Given the description of an element on the screen output the (x, y) to click on. 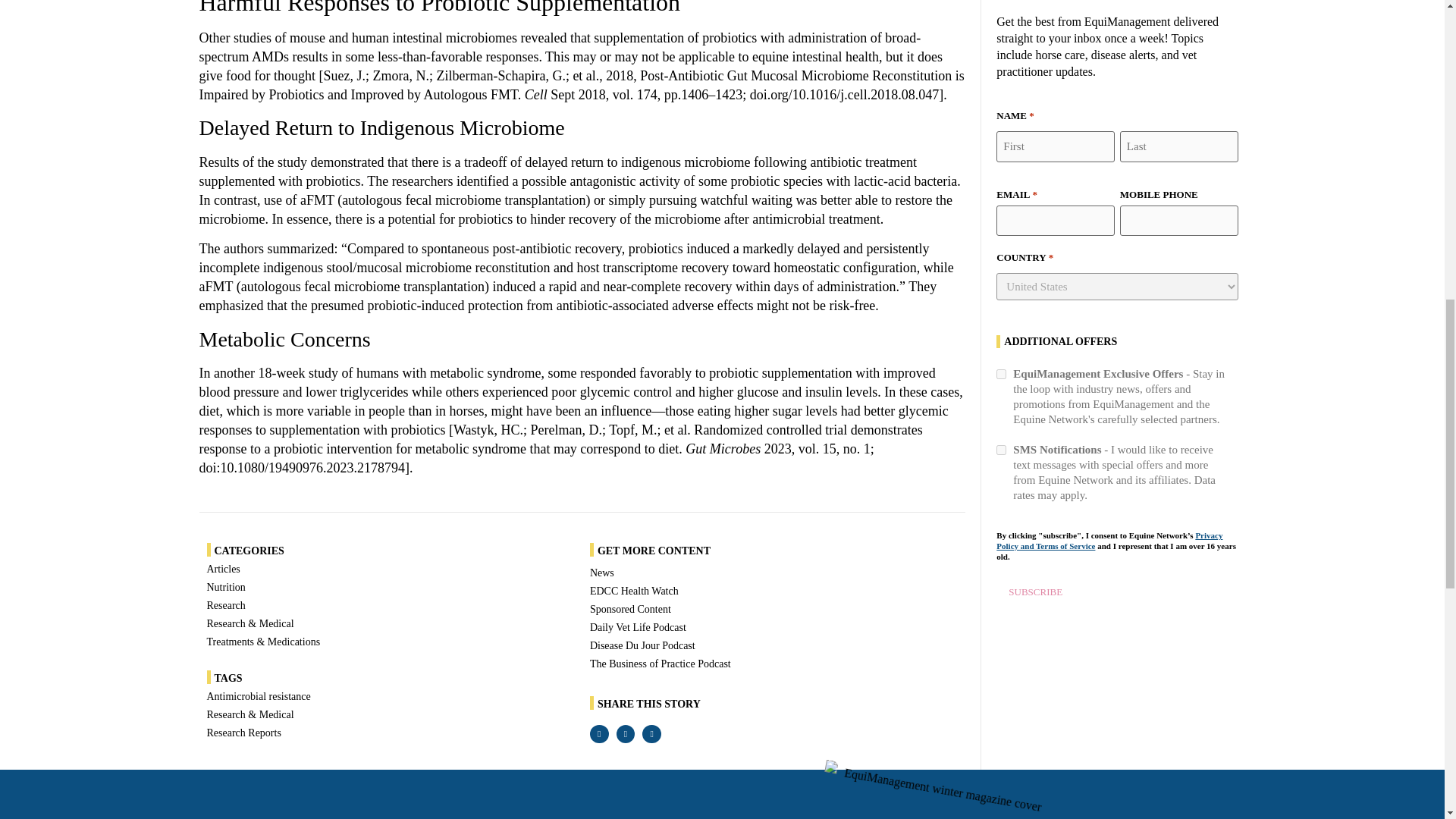
Subscribe (1034, 592)
SMS Notifications (1000, 450)
157be729-a691-4459-9ca3-c1f10a60b90e (1000, 374)
